Given the description of an element on the screen output the (x, y) to click on. 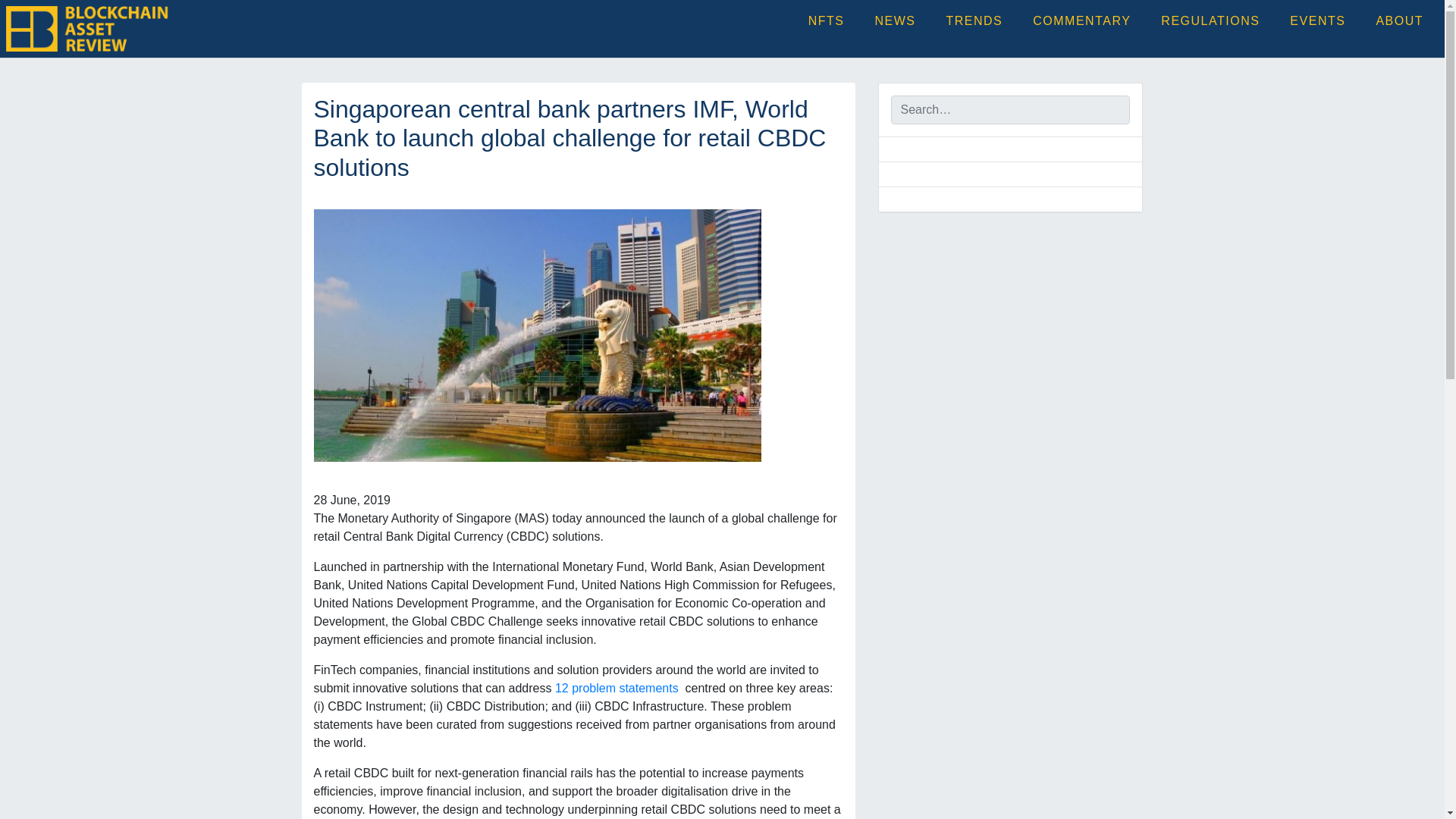
NEWS (895, 21)
ABOUT (1398, 21)
12 problem statements  (617, 687)
EVENTS (1317, 21)
COMMENTARY (1081, 21)
Blockchain Asset Review (293, 43)
NFTS (826, 21)
TRENDS (974, 21)
REGULATIONS (1210, 21)
